Given the description of an element on the screen output the (x, y) to click on. 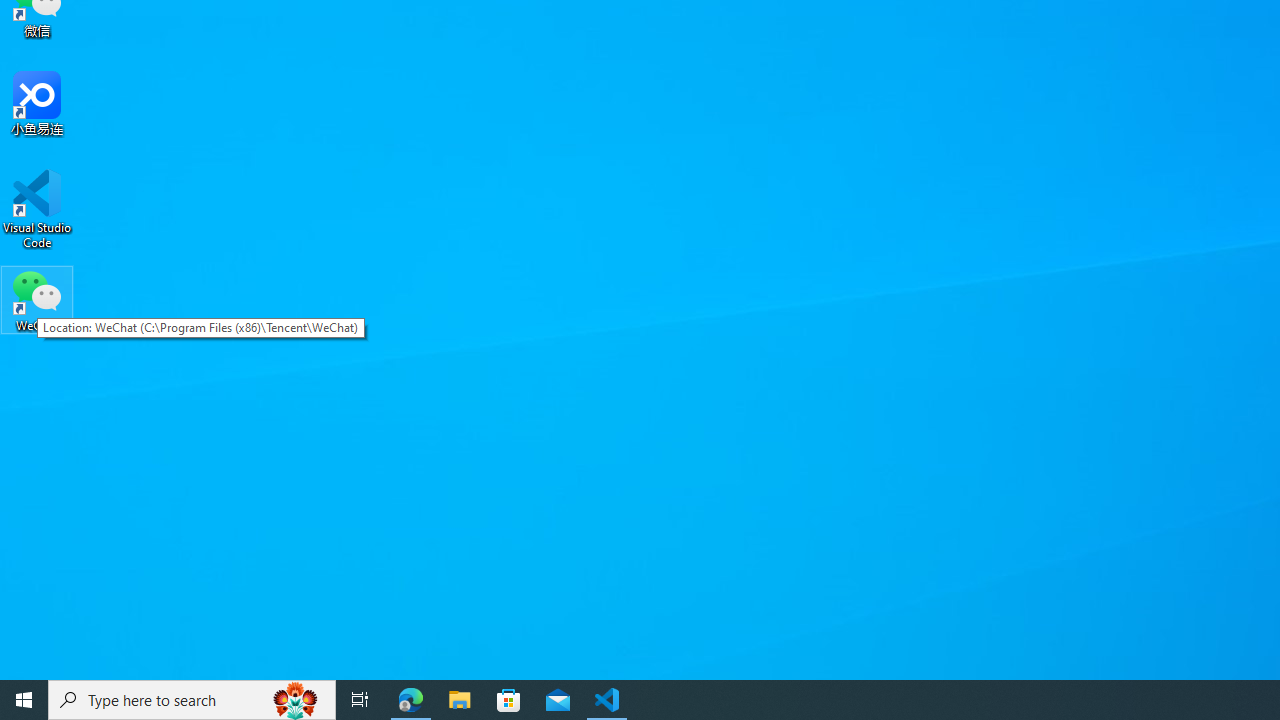
WeChat (37, 299)
Microsoft Edge - 1 running window (411, 699)
File Explorer (460, 699)
Task View (359, 699)
Microsoft Store (509, 699)
Visual Studio Code (37, 209)
Search highlights icon opens search home window (295, 699)
Visual Studio Code - 1 running window (607, 699)
Start (24, 699)
Type here to search (191, 699)
